Given the description of an element on the screen output the (x, y) to click on. 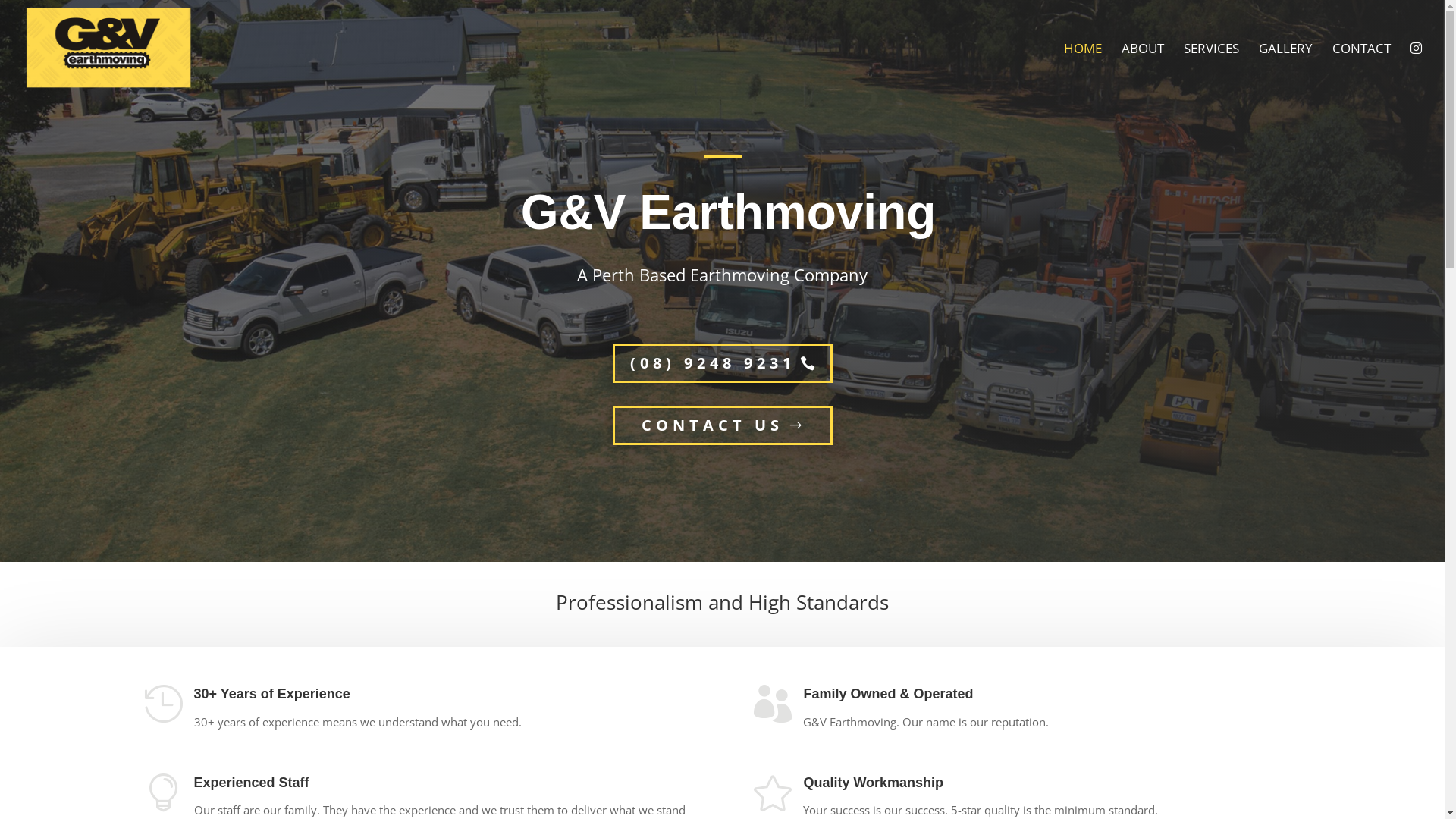
CONTACT Element type: text (1361, 69)
CONTACT US Element type: text (722, 425)
GALLERY Element type: text (1285, 69)
HOME Element type: text (1082, 69)
(08) 9248 9231 Element type: text (722, 362)
ABOUT Element type: text (1142, 69)
SERVICES Element type: text (1211, 69)
